Given the description of an element on the screen output the (x, y) to click on. 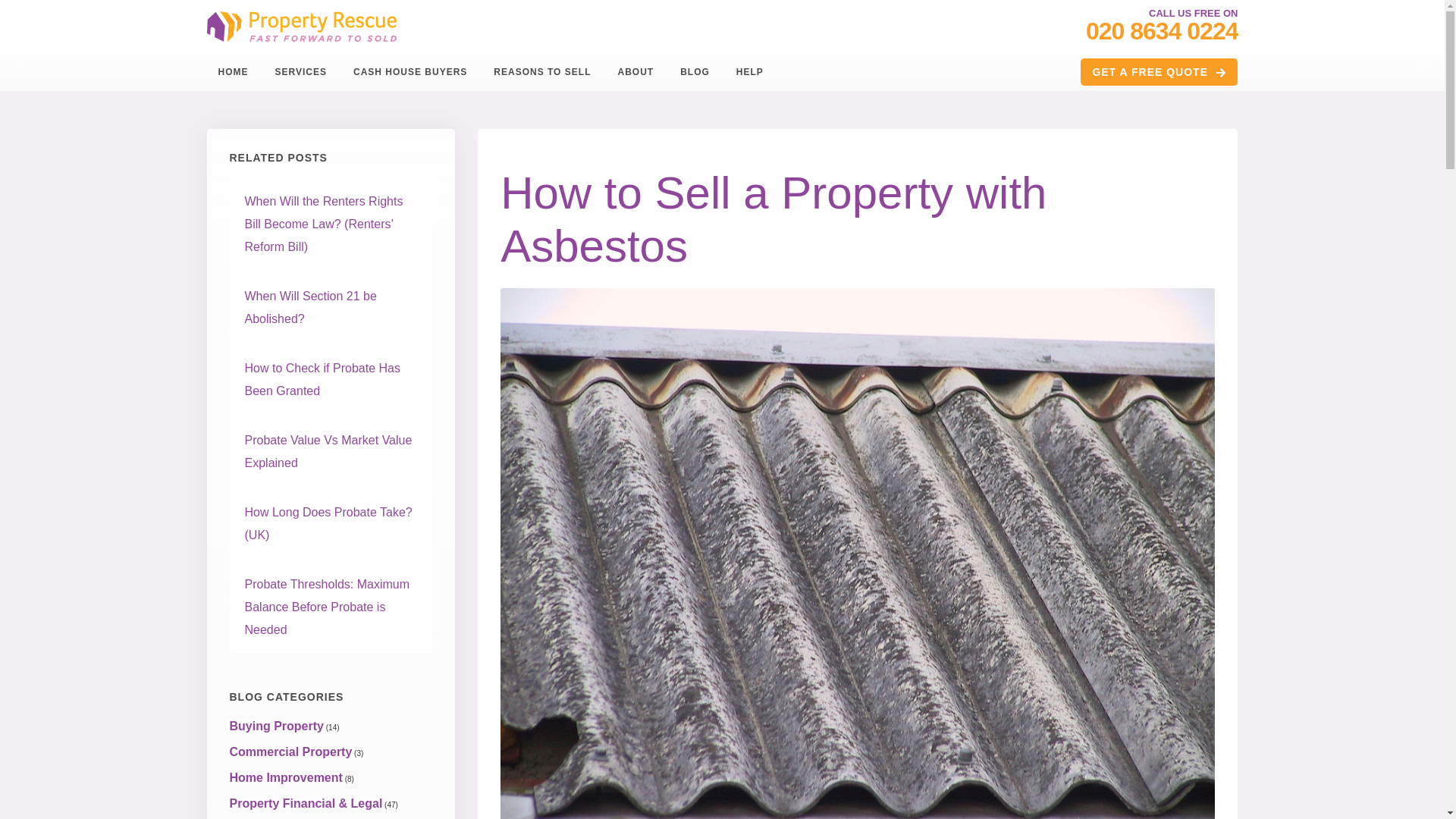
CASH HOUSE BUYERS (410, 71)
ABOUT (635, 71)
REASONS TO SELL (541, 71)
HOME (232, 71)
HELP (749, 71)
020 8634 0224 (1162, 31)
BLOG (694, 71)
SERVICES (300, 71)
